Given the description of an element on the screen output the (x, y) to click on. 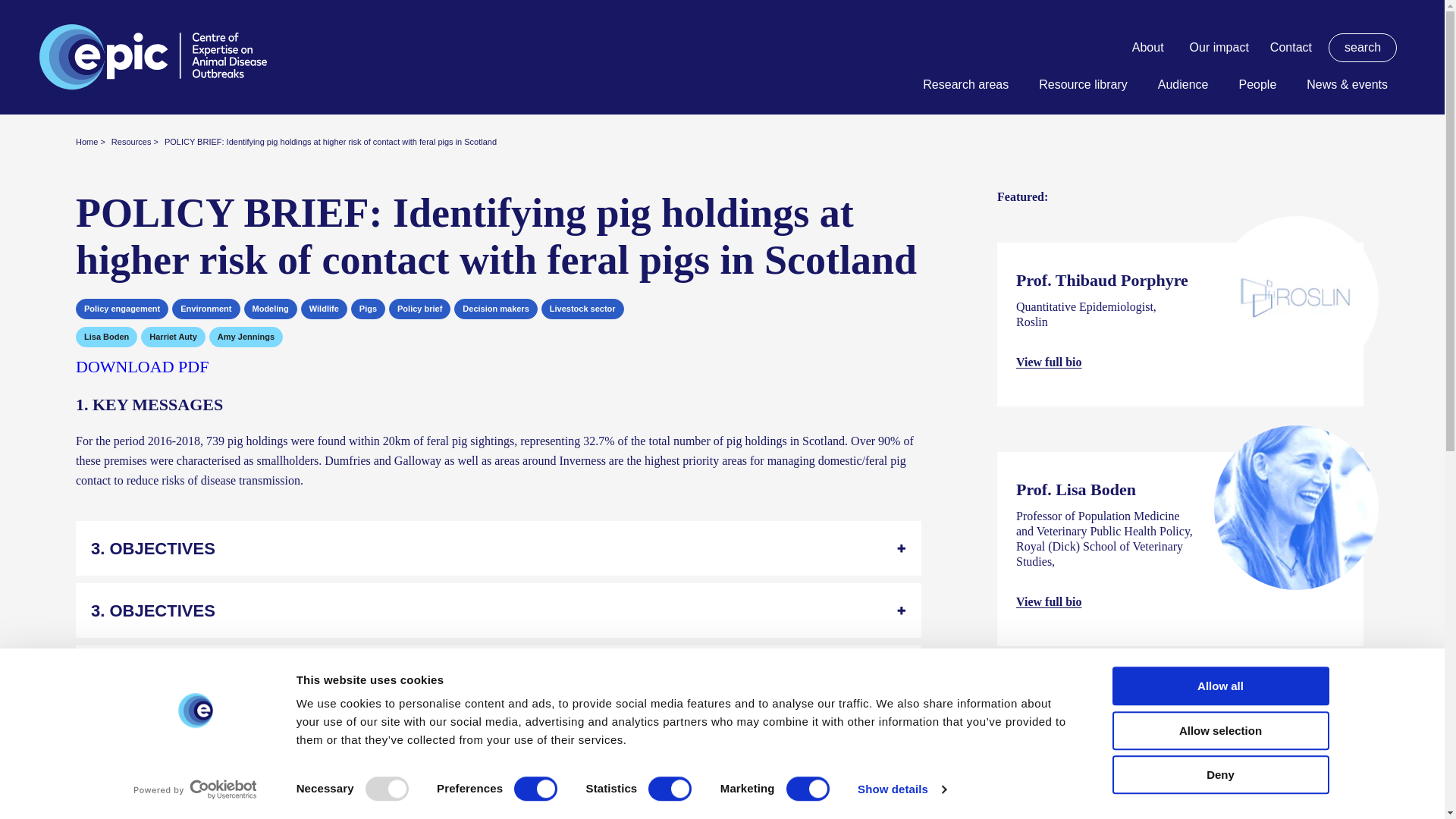
Deny (1219, 774)
Allow selection (1219, 730)
Show details (900, 789)
Allow all (1219, 685)
Fig 1 (498, 366)
